Given the description of an element on the screen output the (x, y) to click on. 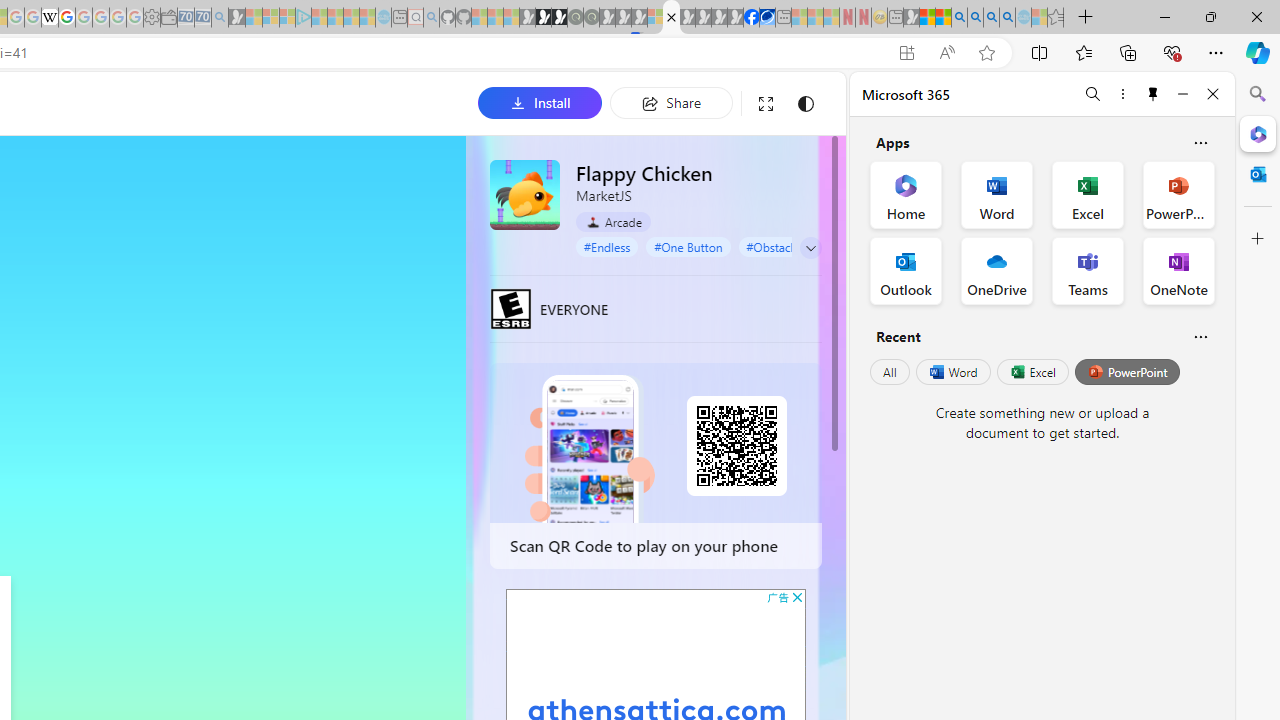
Arcade (613, 221)
Nordace | Facebook (751, 17)
github - Search - Sleeping (431, 17)
#One Button (688, 246)
Is this helpful? (1200, 336)
Cheap Car Rentals - Save70.com - Sleeping (202, 17)
Word Office App (996, 194)
Home | Sky Blue Bikes - Sky Blue Bikes - Sleeping (383, 17)
Bing Real Estate - Home sales and rental listings - Sleeping (219, 17)
